Given the description of an element on the screen output the (x, y) to click on. 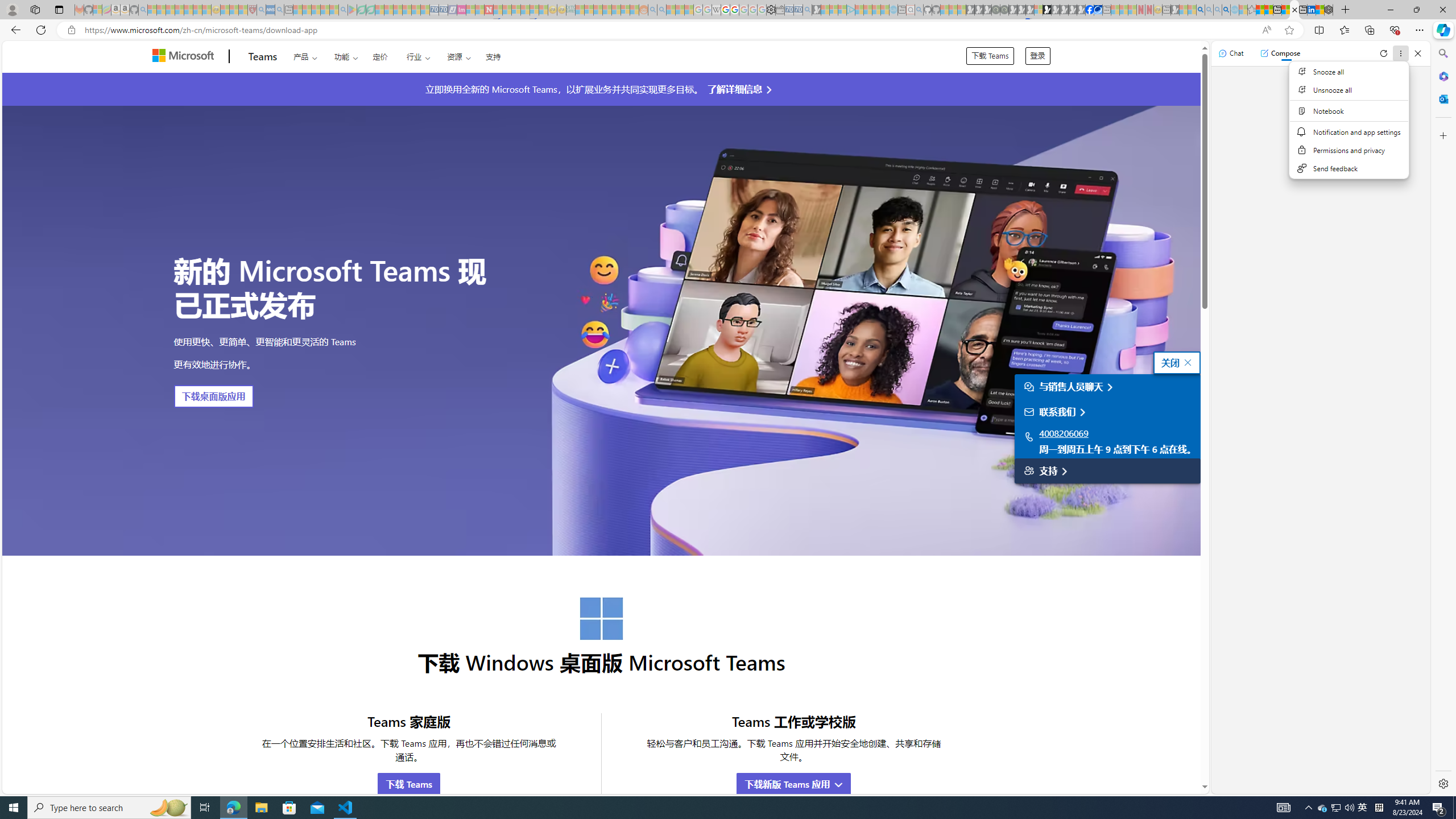
github - Search - Sleeping (919, 9)
Jobs - lastminute.com Investor Portal - Sleeping (461, 9)
Compose (1279, 52)
Context (1349, 119)
